Given the description of an element on the screen output the (x, y) to click on. 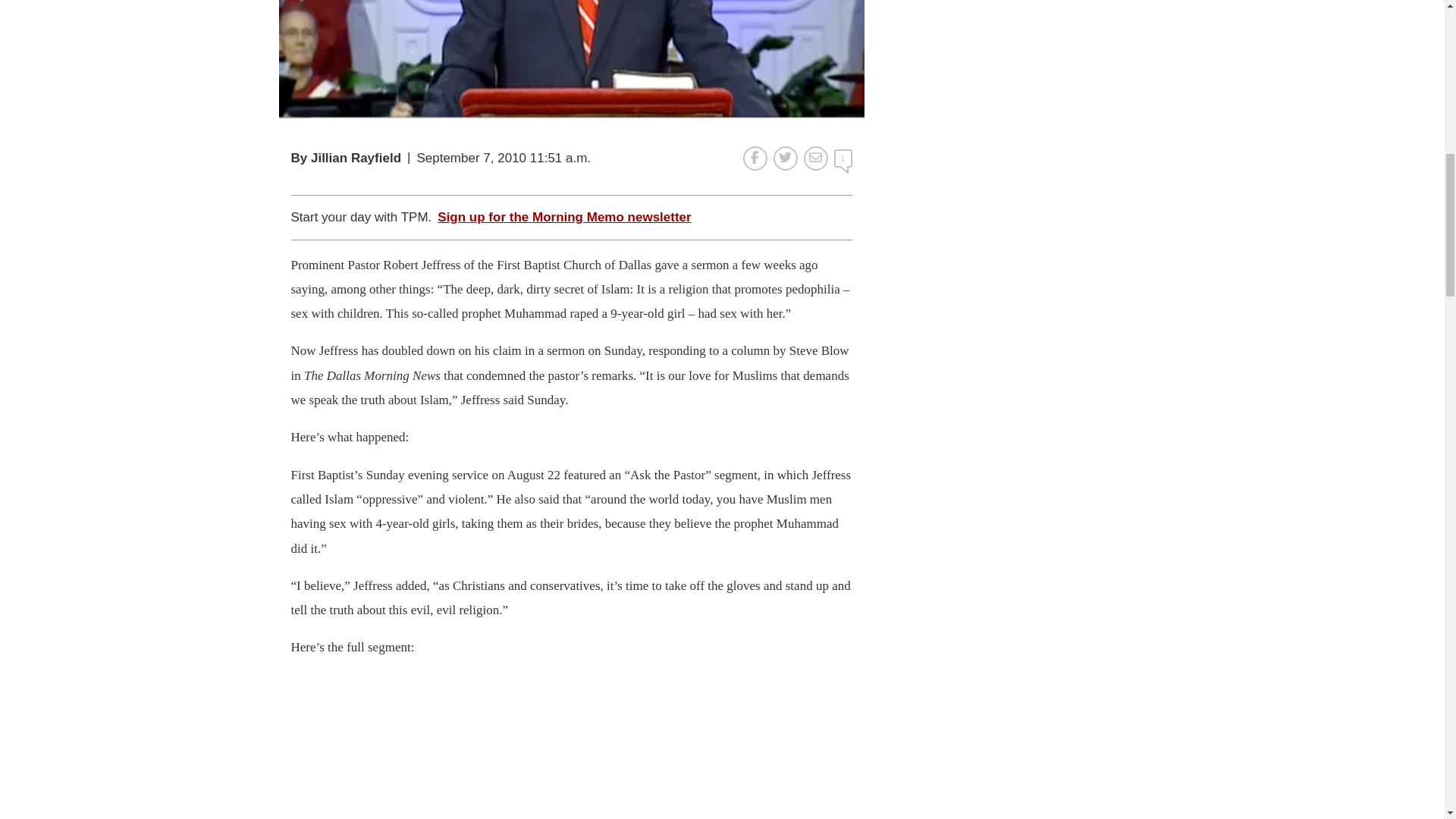
Read our mission (456, 245)
1 (842, 158)
Posts by Jillian Rayfield (356, 157)
Jillian Rayfield (356, 157)
Become a member (686, 245)
